Given the description of an element on the screen output the (x, y) to click on. 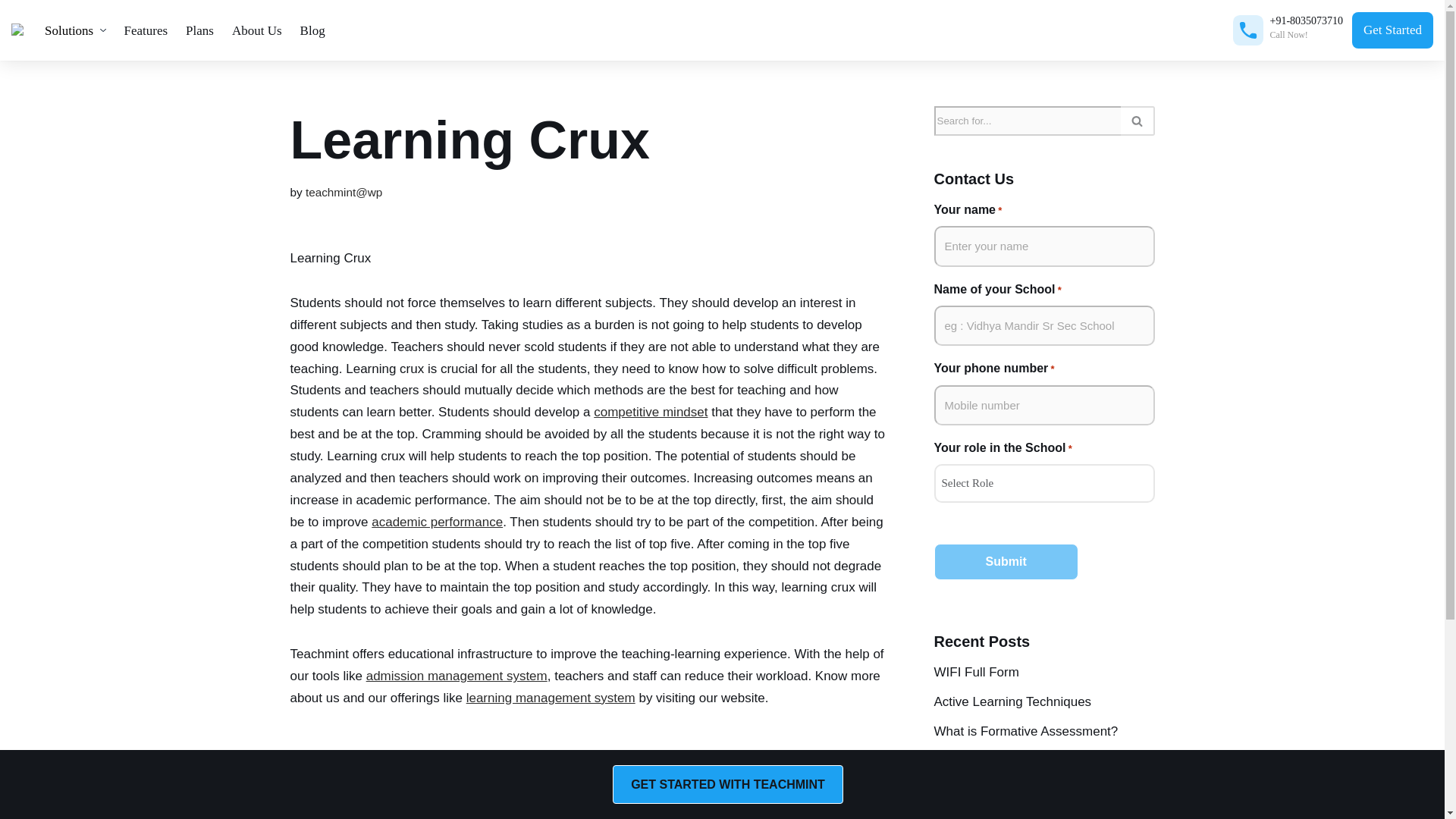
Plans (199, 30)
Features (146, 30)
About Us (256, 30)
Submit (1006, 561)
Blog (312, 30)
Skip to content (11, 31)
